Given the description of an element on the screen output the (x, y) to click on. 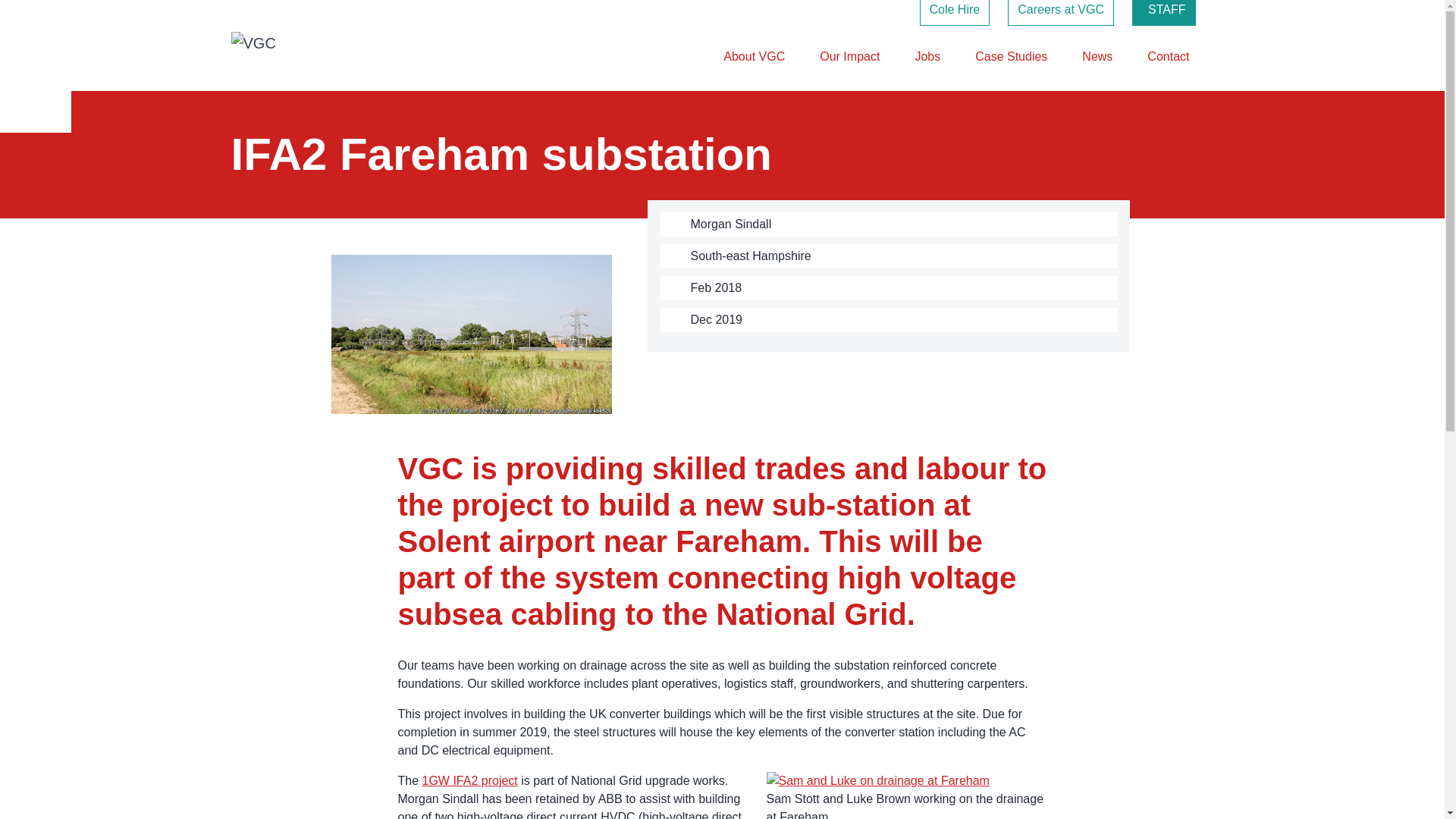
Jobs (927, 56)
Case Studies (1010, 56)
Jobs (927, 56)
About VGC (753, 56)
Cole Hire (955, 12)
Our Impact (849, 56)
1GW IFA2 project (470, 780)
News (1096, 56)
Our Impact (849, 56)
Careers at VGC (1060, 12)
